Given the description of an element on the screen output the (x, y) to click on. 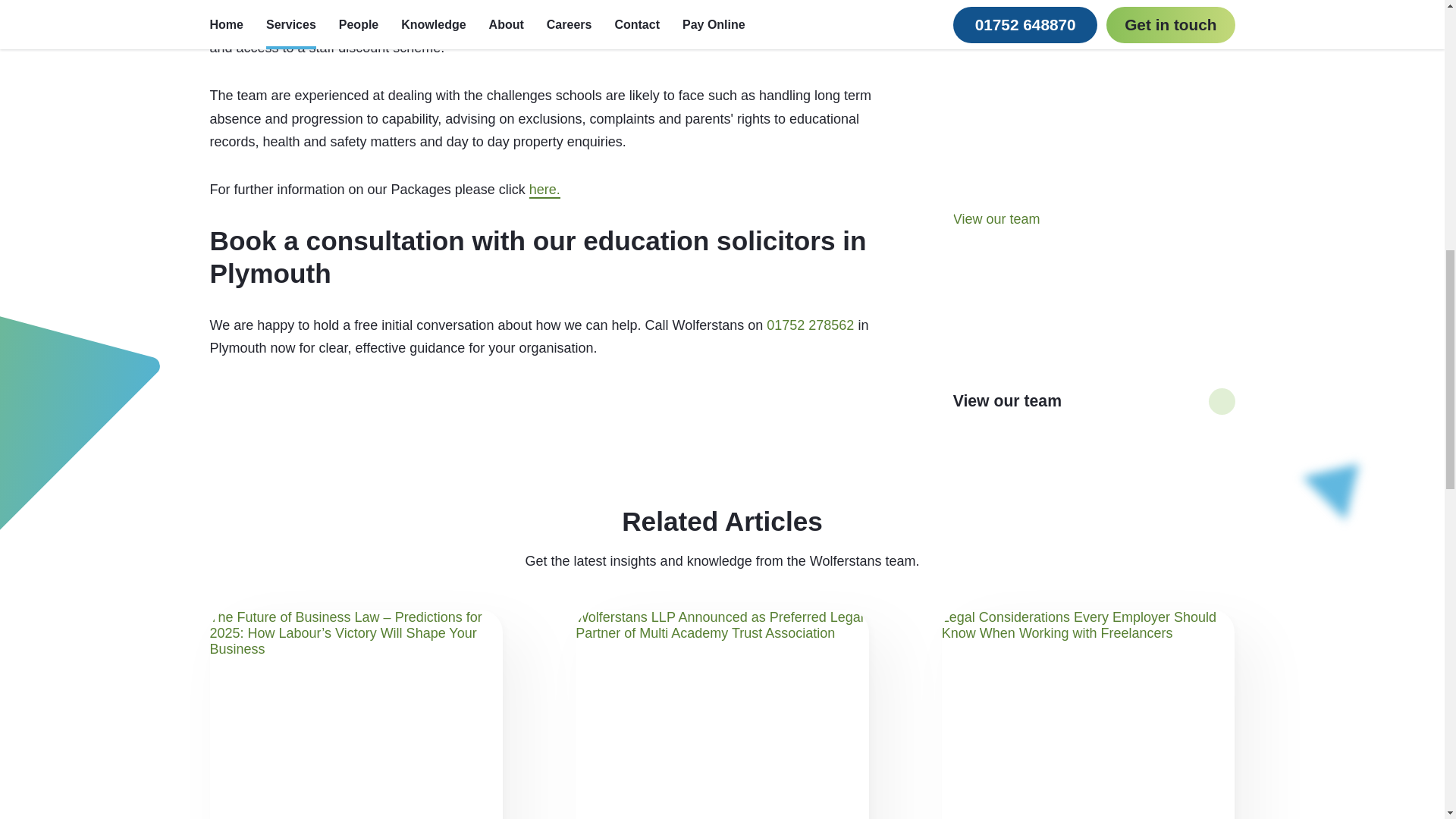
here. (544, 190)
01752 278562 (810, 324)
